Given the description of an element on the screen output the (x, y) to click on. 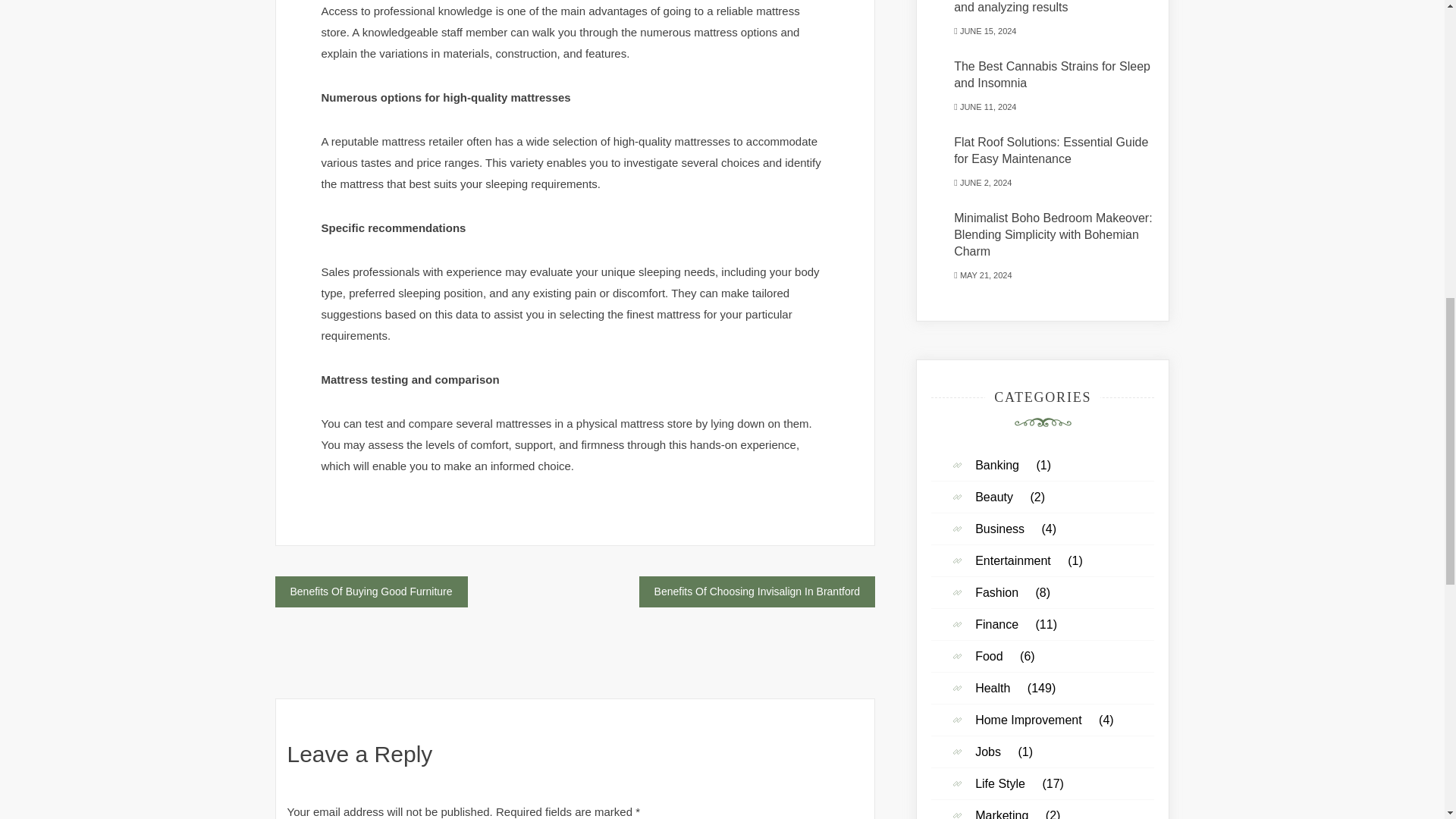
Benefits Of Buying Good Furniture (371, 591)
Benefits Of Choosing Invisalign In Brantford (757, 591)
